Given the description of an element on the screen output the (x, y) to click on. 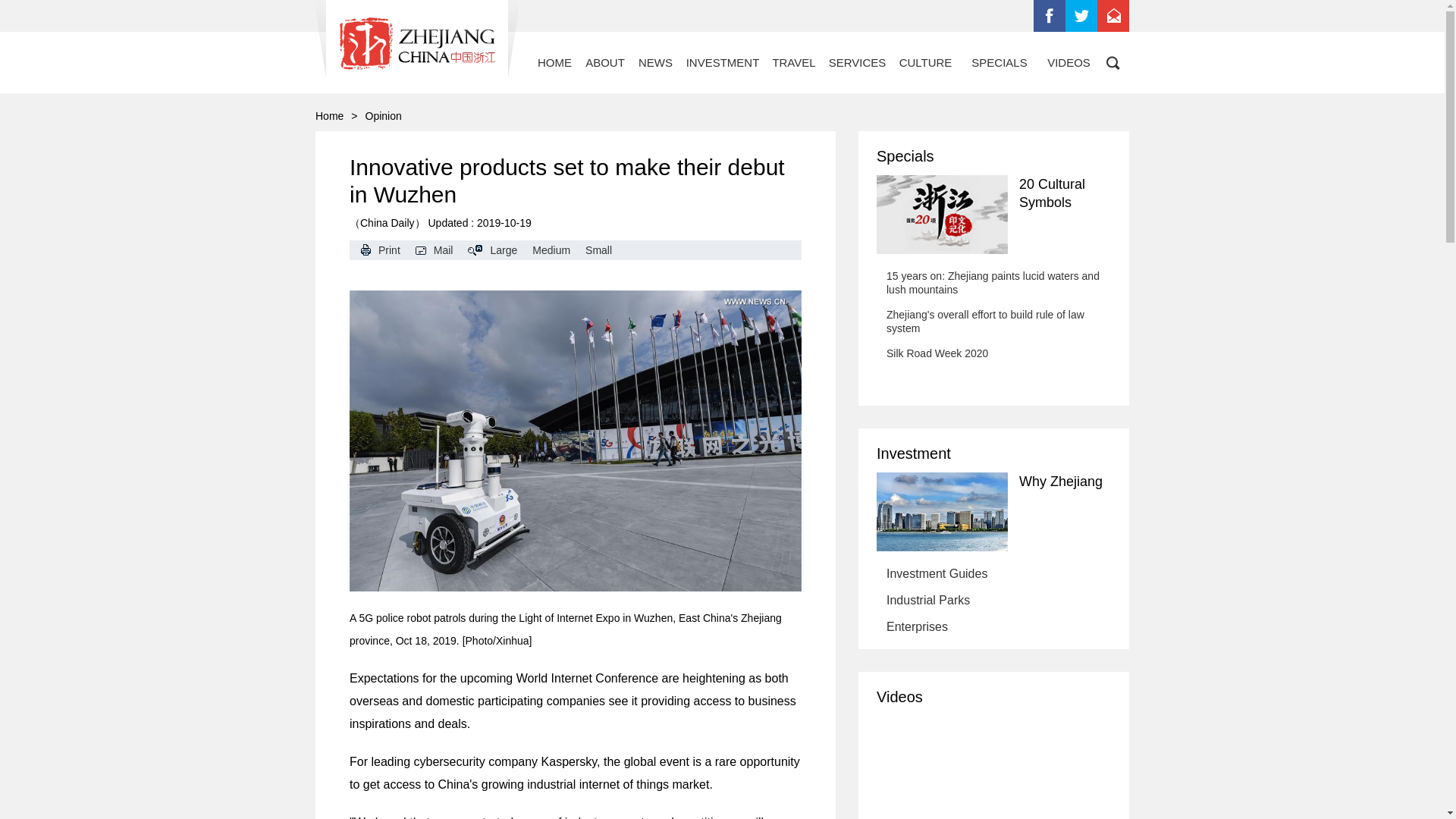
CULTURE (925, 62)
Search (1113, 62)
HOME (554, 62)
SERVICES (857, 62)
Contact Us (1113, 15)
NEWS (655, 62)
INVESTMENT (722, 62)
Facebook (1049, 15)
Twitter (1081, 15)
TRAVEL (793, 62)
ABOUT (604, 62)
